Given the description of an element on the screen output the (x, y) to click on. 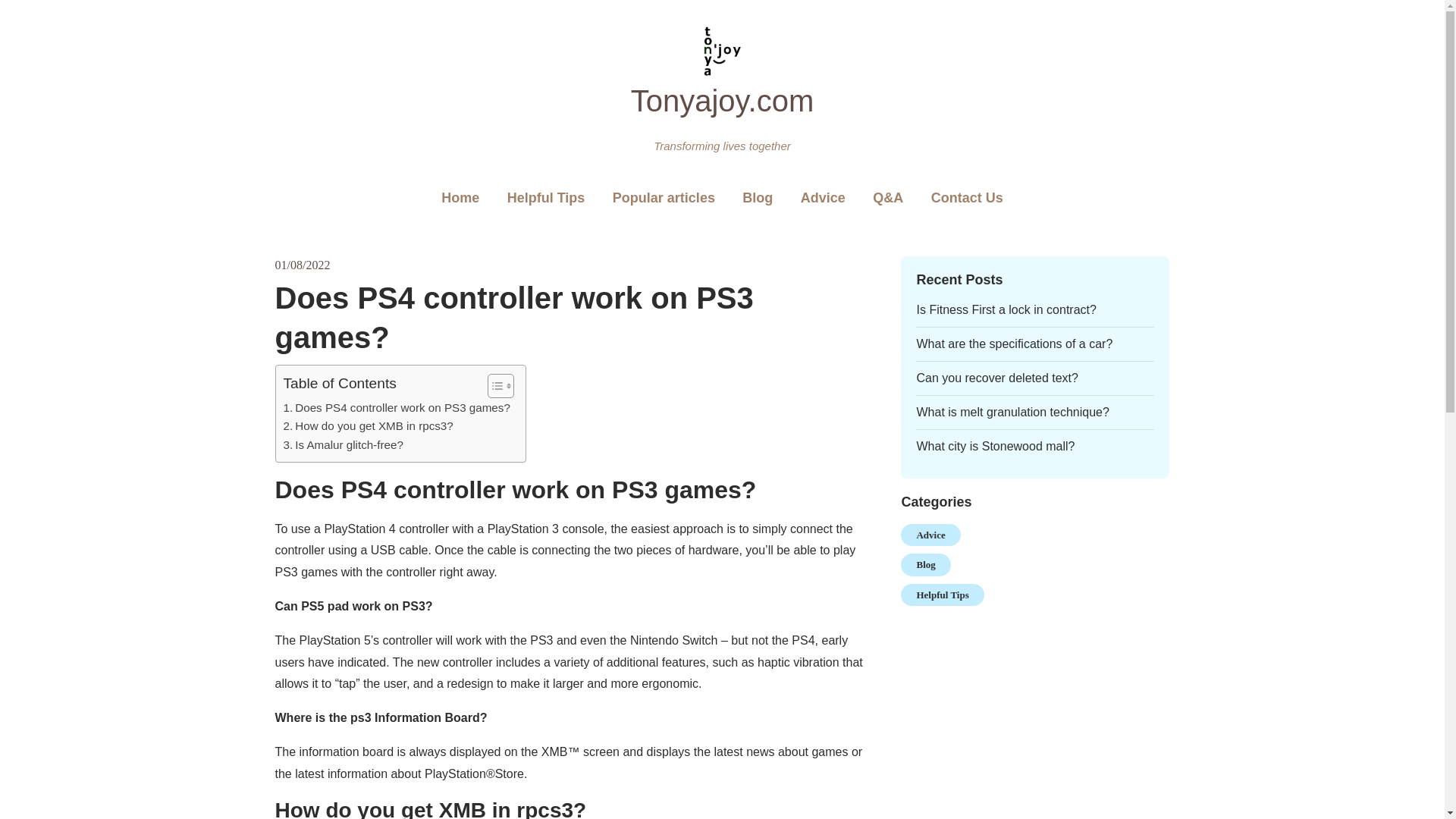
Is Amalur glitch-free? (343, 444)
What is melt granulation technique? (1011, 411)
What city is Stonewood mall? (994, 445)
Advice (930, 535)
Home (460, 198)
Tonyajoy.com (722, 100)
Does PS4 controller work on PS3 games? (397, 407)
Blog (925, 564)
Contact Us (966, 198)
Advice (823, 198)
How do you get XMB in rpcs3? (367, 425)
Is Fitness First a lock in contract? (1005, 309)
Does PS4 controller work on PS3 games? (397, 407)
Is Amalur glitch-free? (343, 444)
Helpful Tips (545, 198)
